Given the description of an element on the screen output the (x, y) to click on. 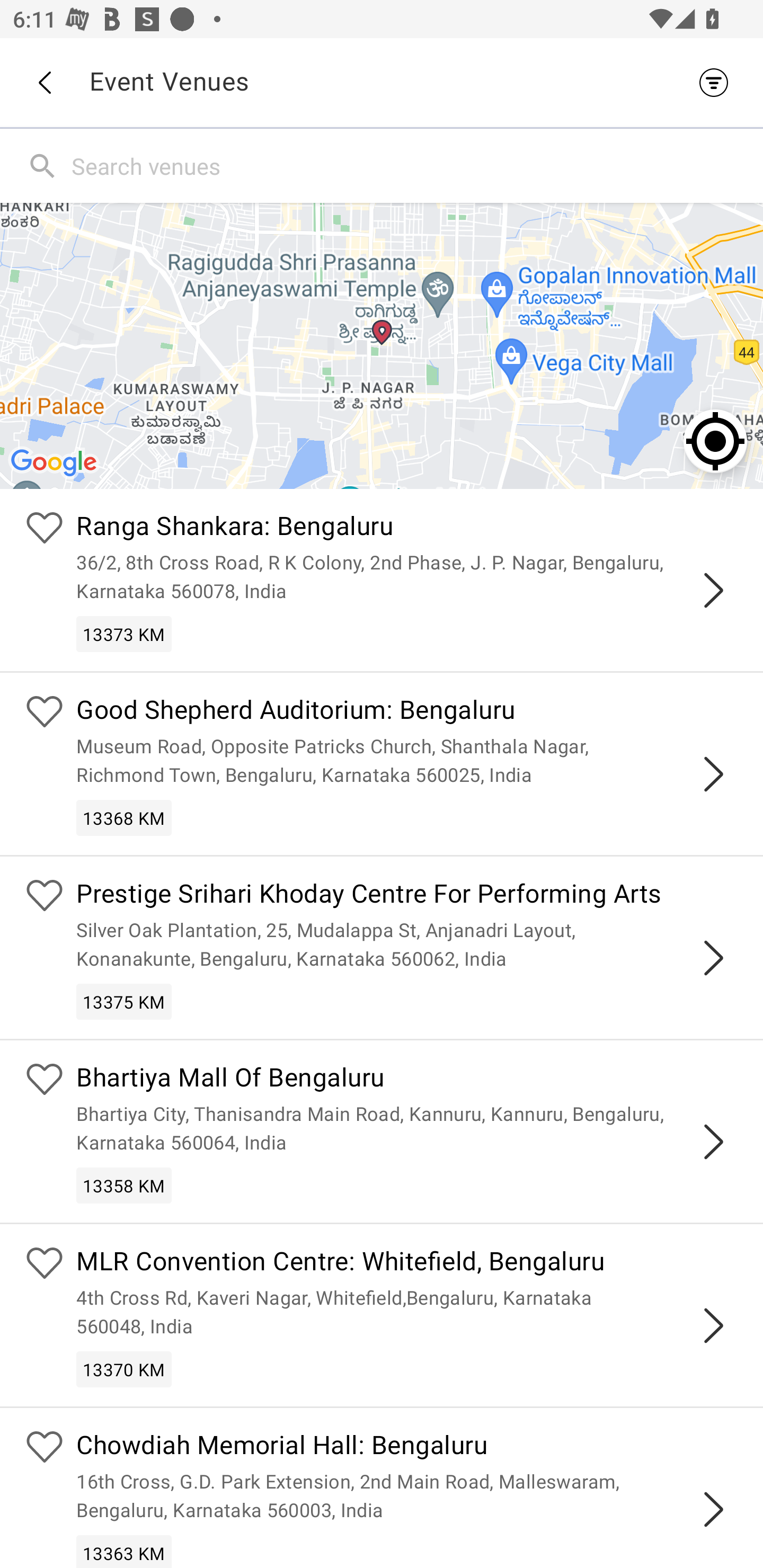
Back Event Venues Filter (381, 82)
Filter (718, 82)
Back (44, 82)
Search venues (413, 165)
Google Map Ranga Shankara: Bengaluru (381, 345)
Ranga Shankara: Bengaluru (406, 528)
 (713, 590)
13373 KM (123, 634)
Good Shepherd Auditorium: Bengaluru (406, 711)
 (713, 773)
13368 KM (123, 817)
Prestige Srihari Khoday Centre For Performing Arts (406, 894)
 (713, 957)
13375 KM (123, 1001)
Bhartiya Mall Of Bengaluru (406, 1079)
 (713, 1141)
13358 KM (123, 1186)
MLR Convention Centre: Whitefield, Bengaluru (406, 1263)
 (713, 1325)
13370 KM (123, 1369)
Chowdiah Memorial Hall: Bengaluru (406, 1446)
 (713, 1508)
13363 KM (123, 1551)
